Given the description of an element on the screen output the (x, y) to click on. 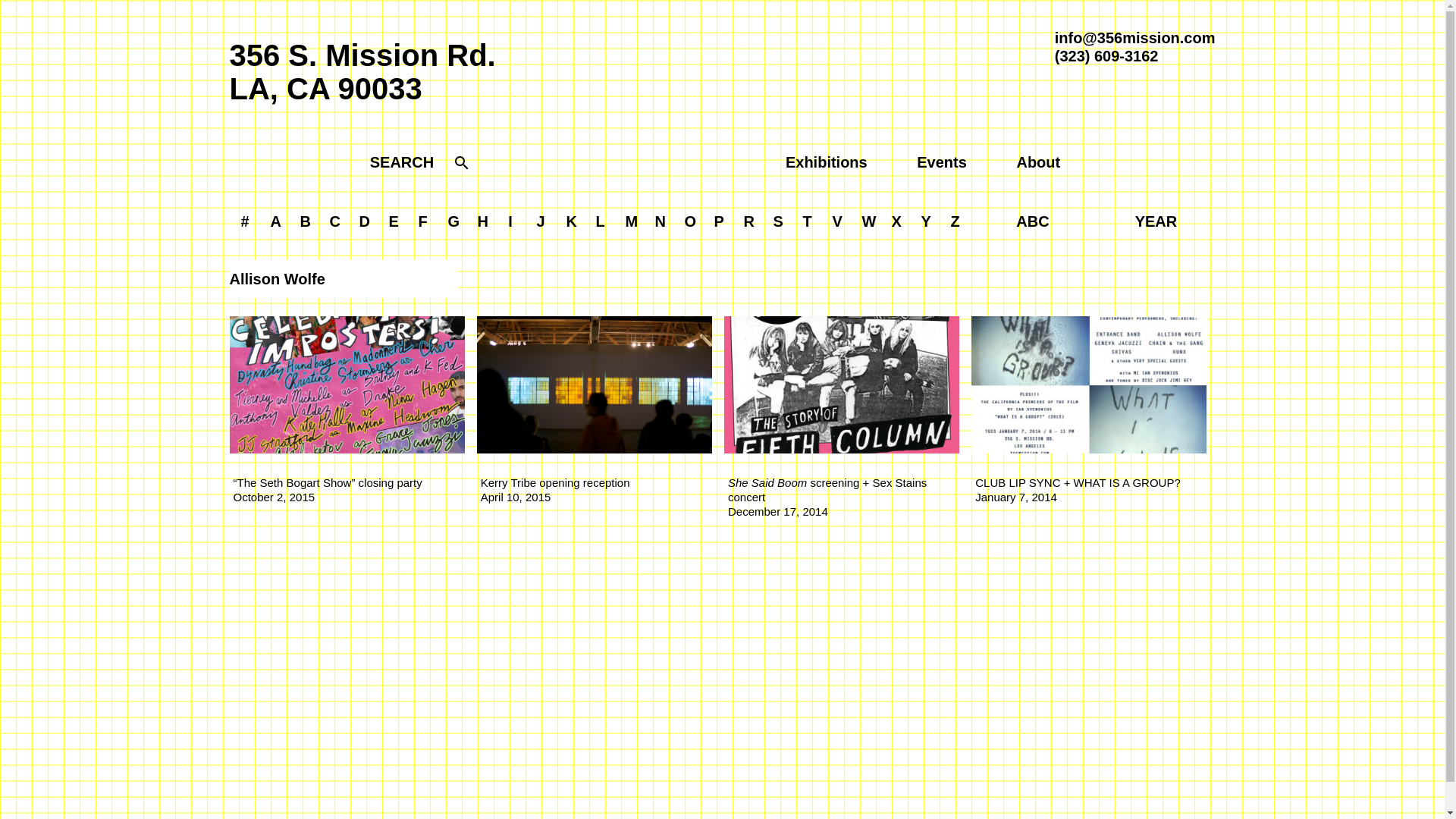
N Element type: text (659, 220)
K Element type: text (571, 220)
# Element type: text (244, 220)
H Element type: text (481, 220)
T Element type: text (807, 220)
L Element type: text (599, 220)
D Element type: text (363, 220)
J Element type: text (539, 220)
356 S. Mission Rd.
LA, CA 90033 Element type: text (362, 71)
ABC Element type: text (1032, 220)
O Element type: text (690, 220)
E Element type: text (393, 220)
P Element type: text (718, 220)
About Element type: text (1037, 161)
Exhibitions Element type: text (826, 161)
W Element type: text (869, 220)
CLUB LIP SYNC + WHAT IS A GROUP?
January 7, 2014 Element type: text (1088, 412)
M Element type: text (631, 220)
I Element type: text (510, 220)
V Element type: text (836, 220)
Z Element type: text (954, 220)
A Element type: text (275, 220)
Y Element type: text (926, 220)
Kerry Tribe opening reception
April 10, 2015 Element type: text (594, 412)
search Element type: text (461, 164)
X Element type: text (895, 220)
C Element type: text (334, 220)
Events Element type: text (941, 161)
info@356mission.com Element type: text (1134, 37)
S Element type: text (777, 220)
F Element type: text (422, 220)
YEAR Element type: text (1155, 220)
R Element type: text (748, 220)
B Element type: text (304, 220)
G Element type: text (453, 220)
